Given the description of an element on the screen output the (x, y) to click on. 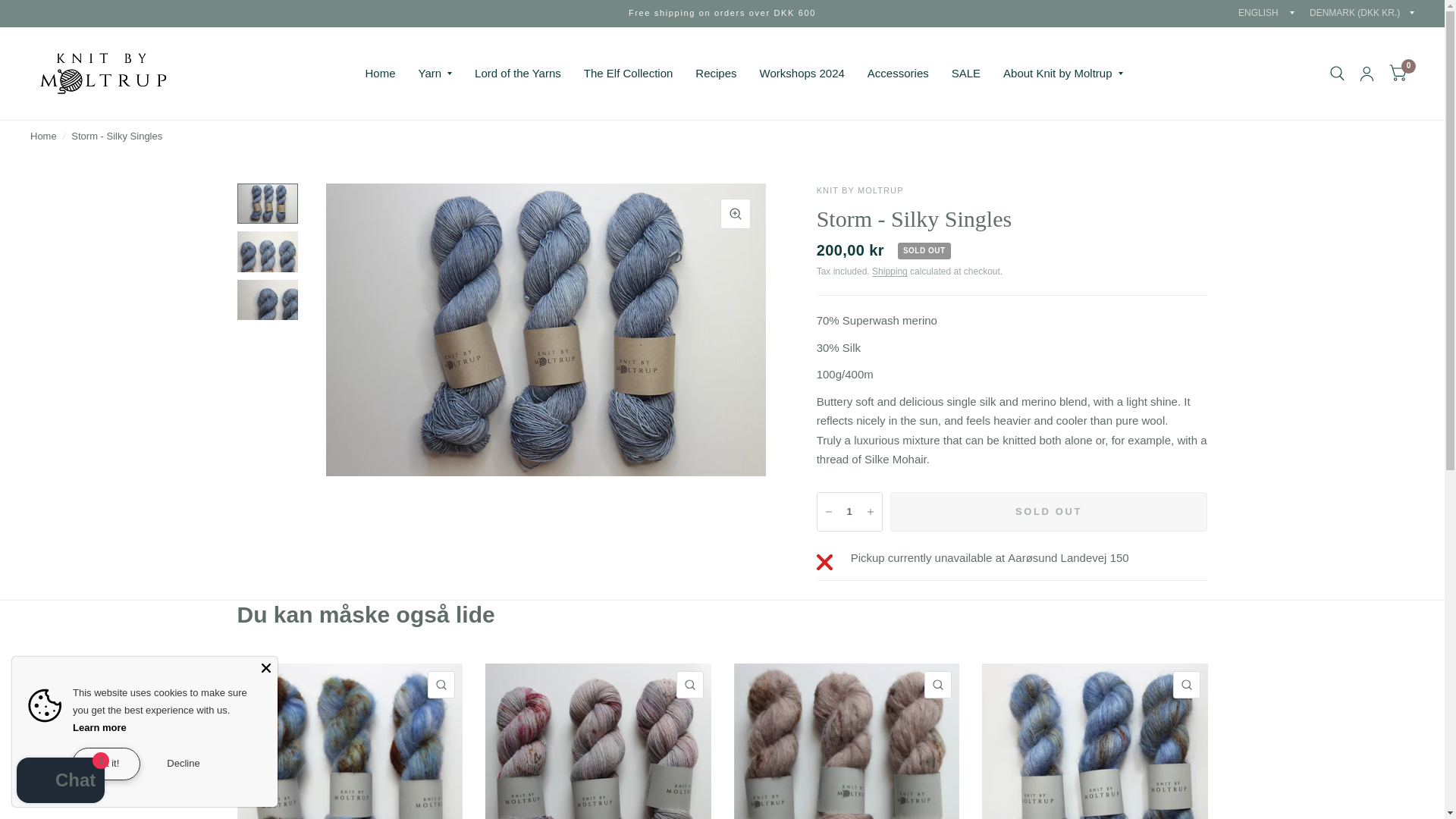
Learn more (99, 727)
